Given the description of an element on the screen output the (x, y) to click on. 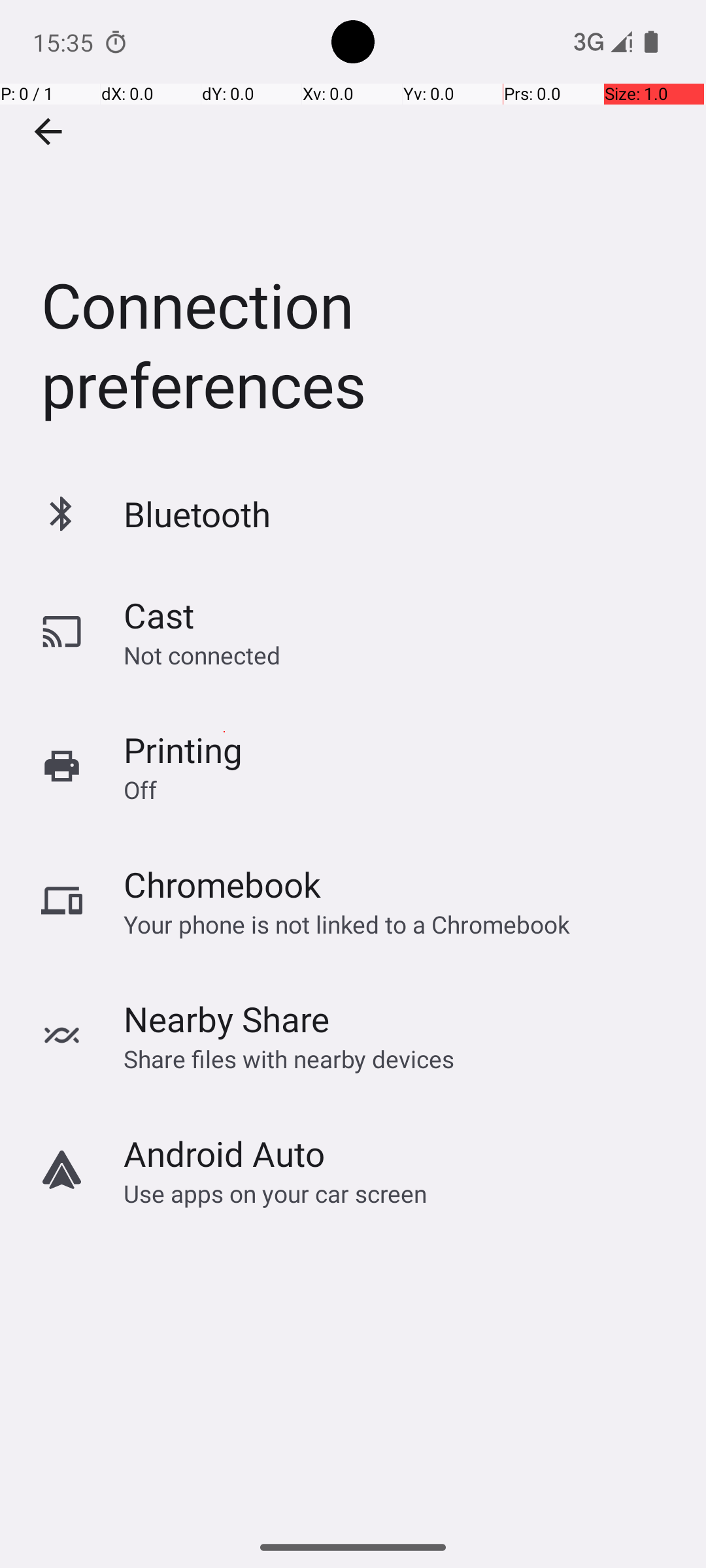
Bluetooth Element type: android.widget.TextView (197, 513)
Cast Element type: android.widget.TextView (158, 614)
Not connected Element type: android.widget.TextView (201, 654)
Printing Element type: android.widget.TextView (182, 749)
Chromebook Element type: android.widget.TextView (222, 884)
Your phone is not linked to a Chromebook Element type: android.widget.TextView (346, 923)
Share files with nearby devices Element type: android.widget.TextView (288, 1058)
Use apps on your car screen Element type: android.widget.TextView (275, 1192)
